Given the description of an element on the screen output the (x, y) to click on. 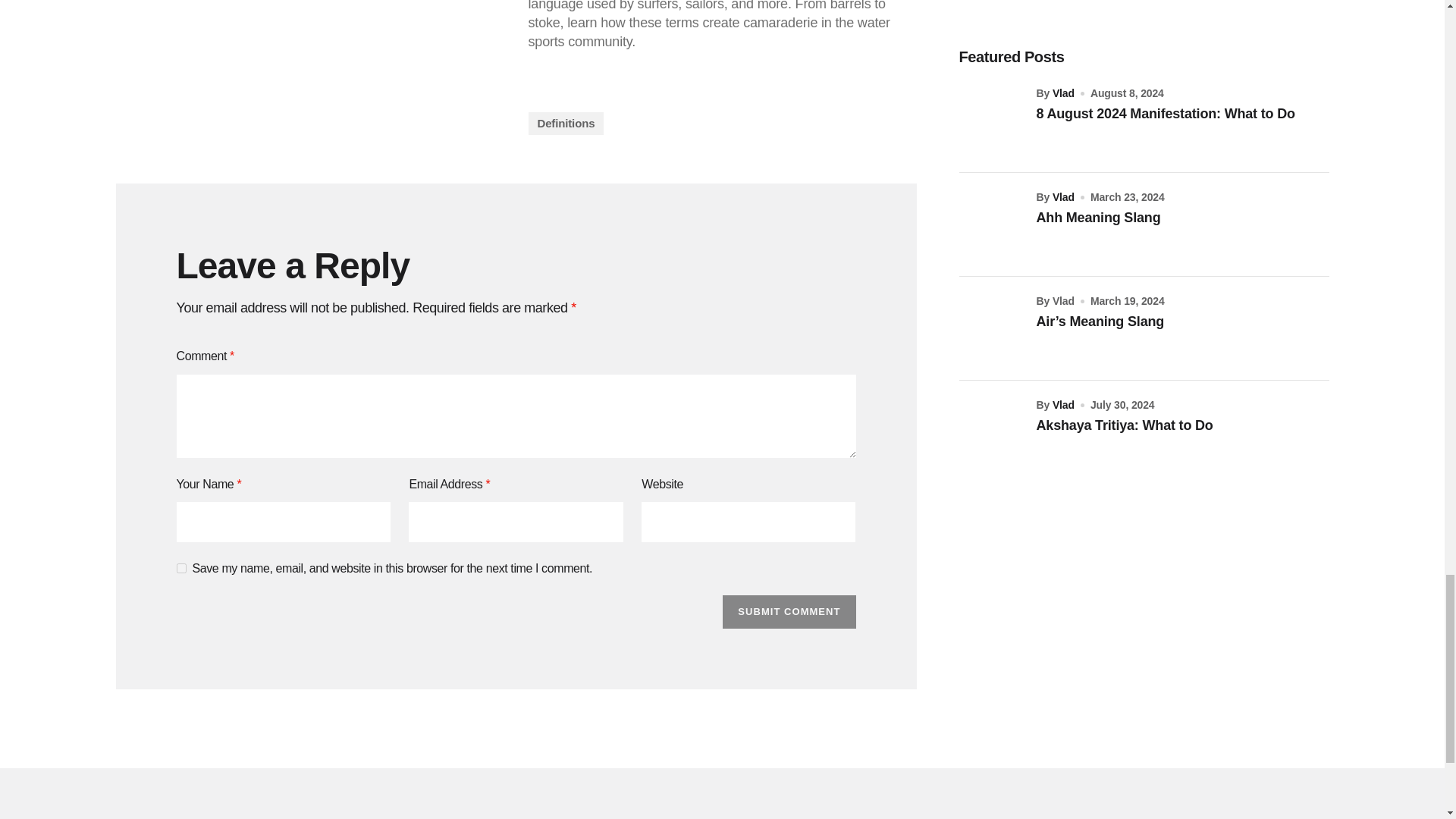
yes (181, 568)
SUBMIT COMMENT (789, 611)
Definitions (565, 123)
Understanding the World of Waters Slang (309, 67)
